Given the description of an element on the screen output the (x, y) to click on. 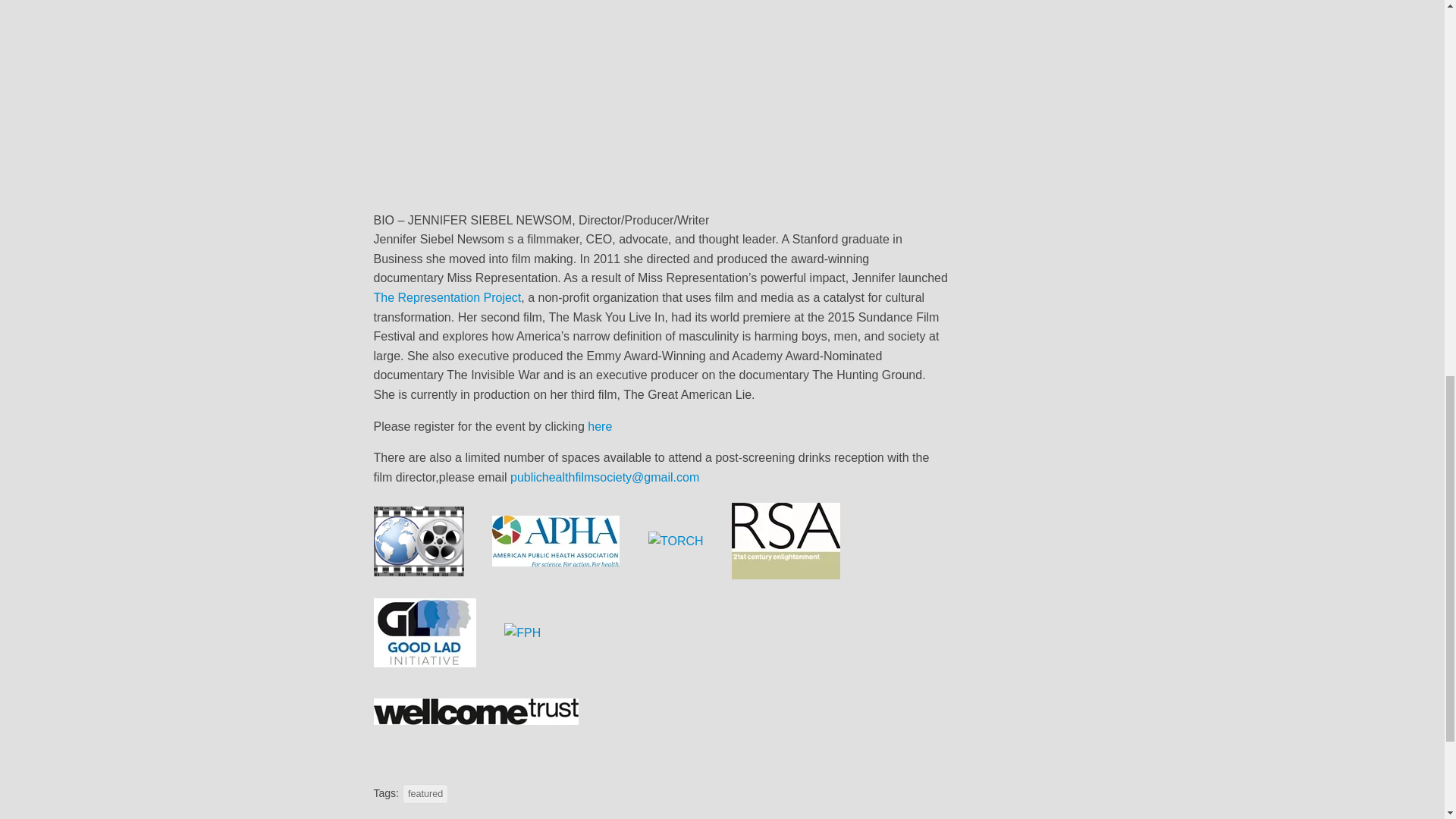
The Representation Project (446, 297)
YouTube player (660, 99)
here (599, 426)
